Given the description of an element on the screen output the (x, y) to click on. 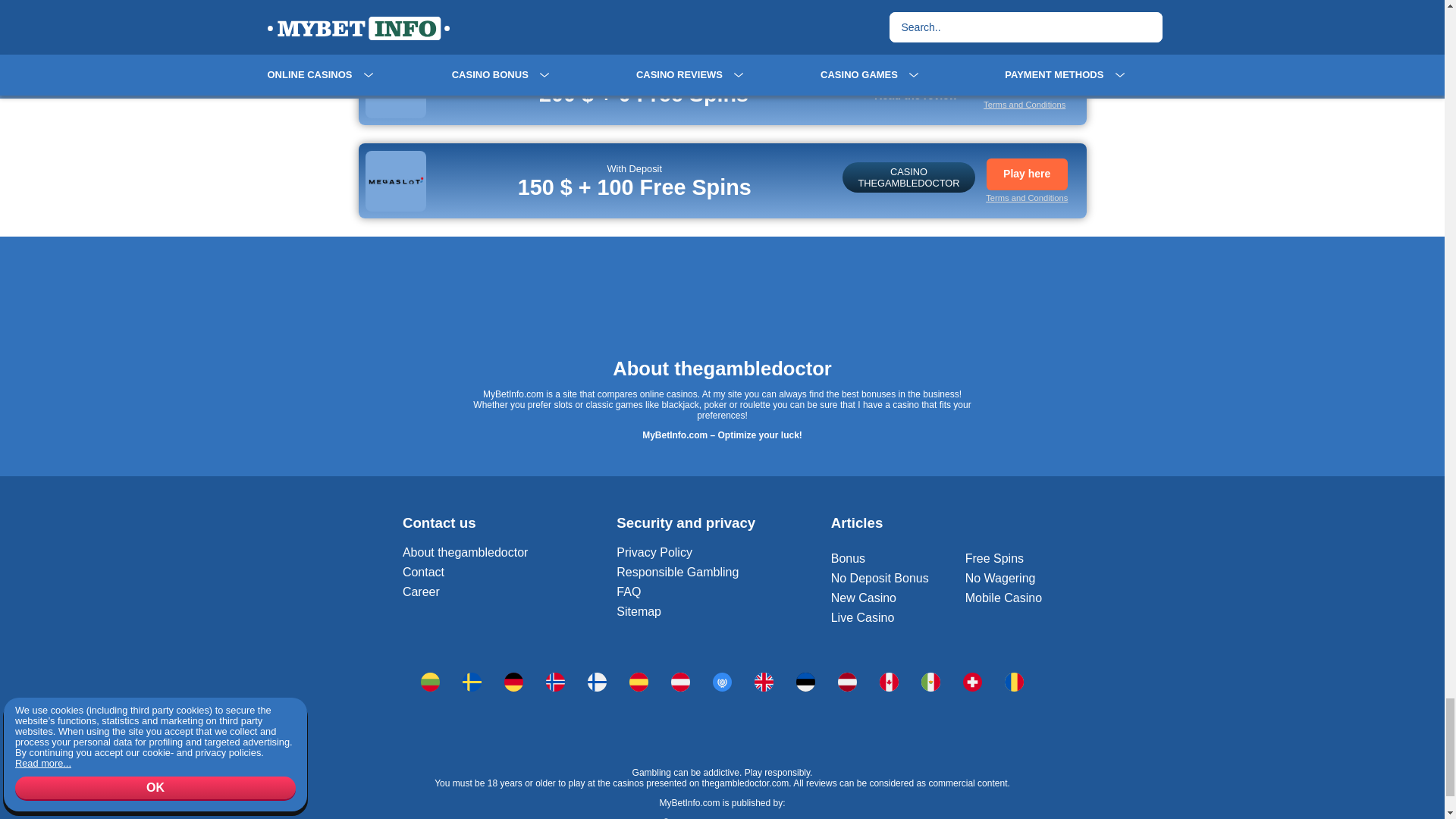
Spinaru (680, 681)
Spinaru (597, 681)
Spinaru (512, 681)
Spinaru (555, 681)
Spinaru (888, 681)
